Given the description of an element on the screen output the (x, y) to click on. 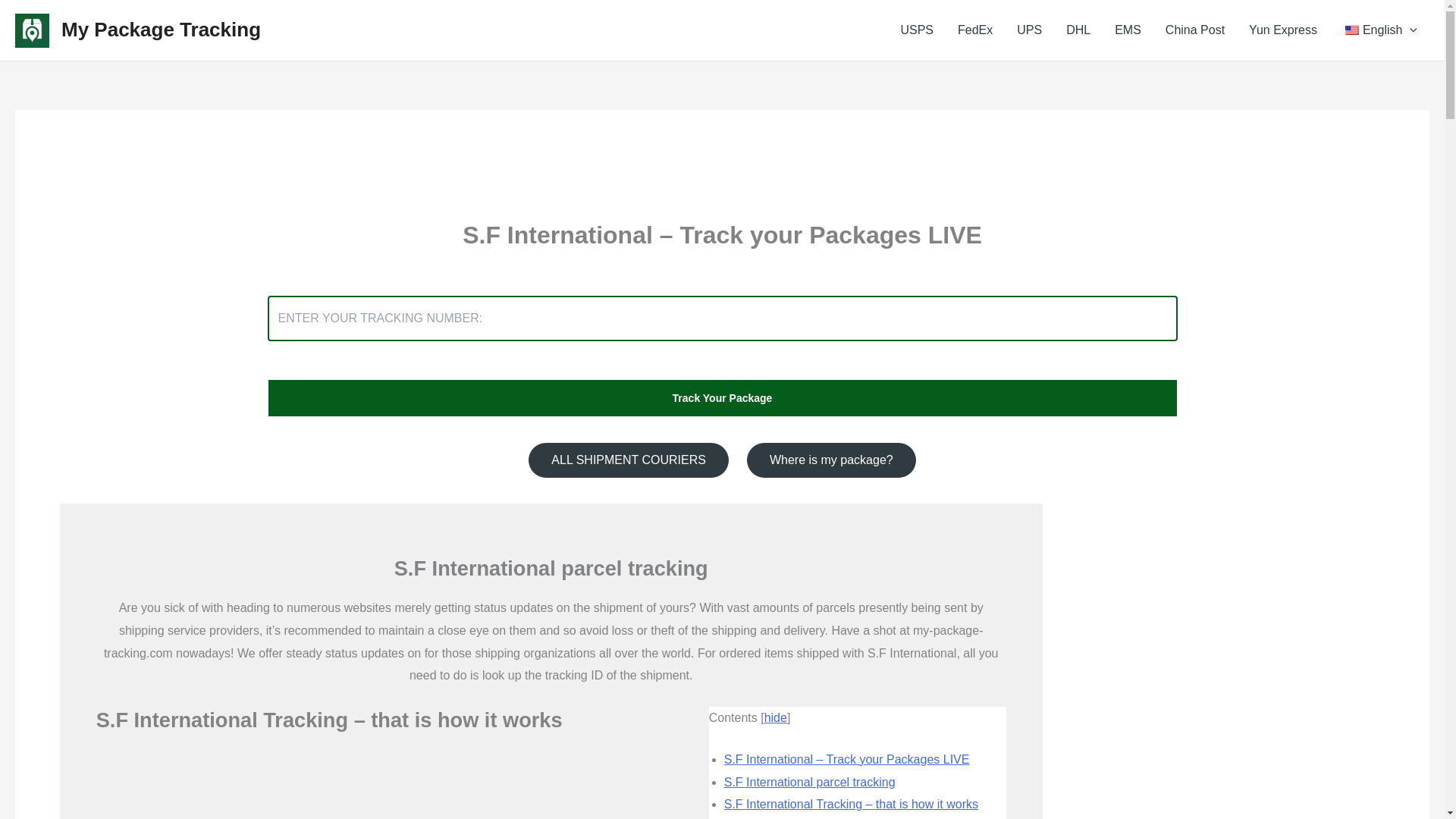
English (1351, 30)
Yun Express (1282, 30)
English (1379, 30)
Track Your Package (721, 397)
FedEx (974, 30)
USPS (916, 30)
My Package Tracking (160, 29)
China Post (1194, 30)
